Given the description of an element on the screen output the (x, y) to click on. 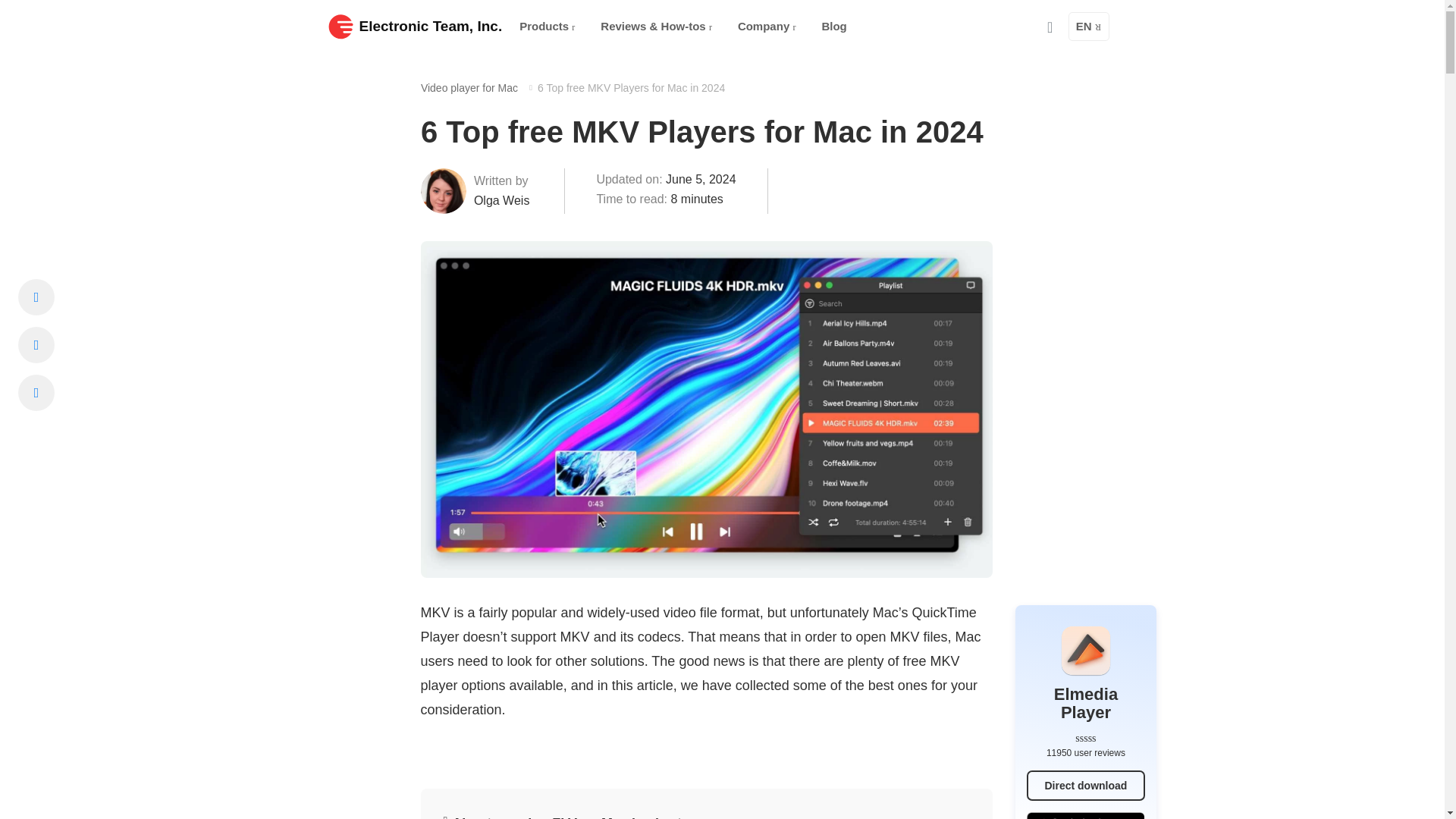
Electronic Team, Inc. (414, 25)
Blog (834, 26)
Company (767, 26)
Blog (834, 26)
EN (1088, 26)
Products (547, 26)
